Given the description of an element on the screen output the (x, y) to click on. 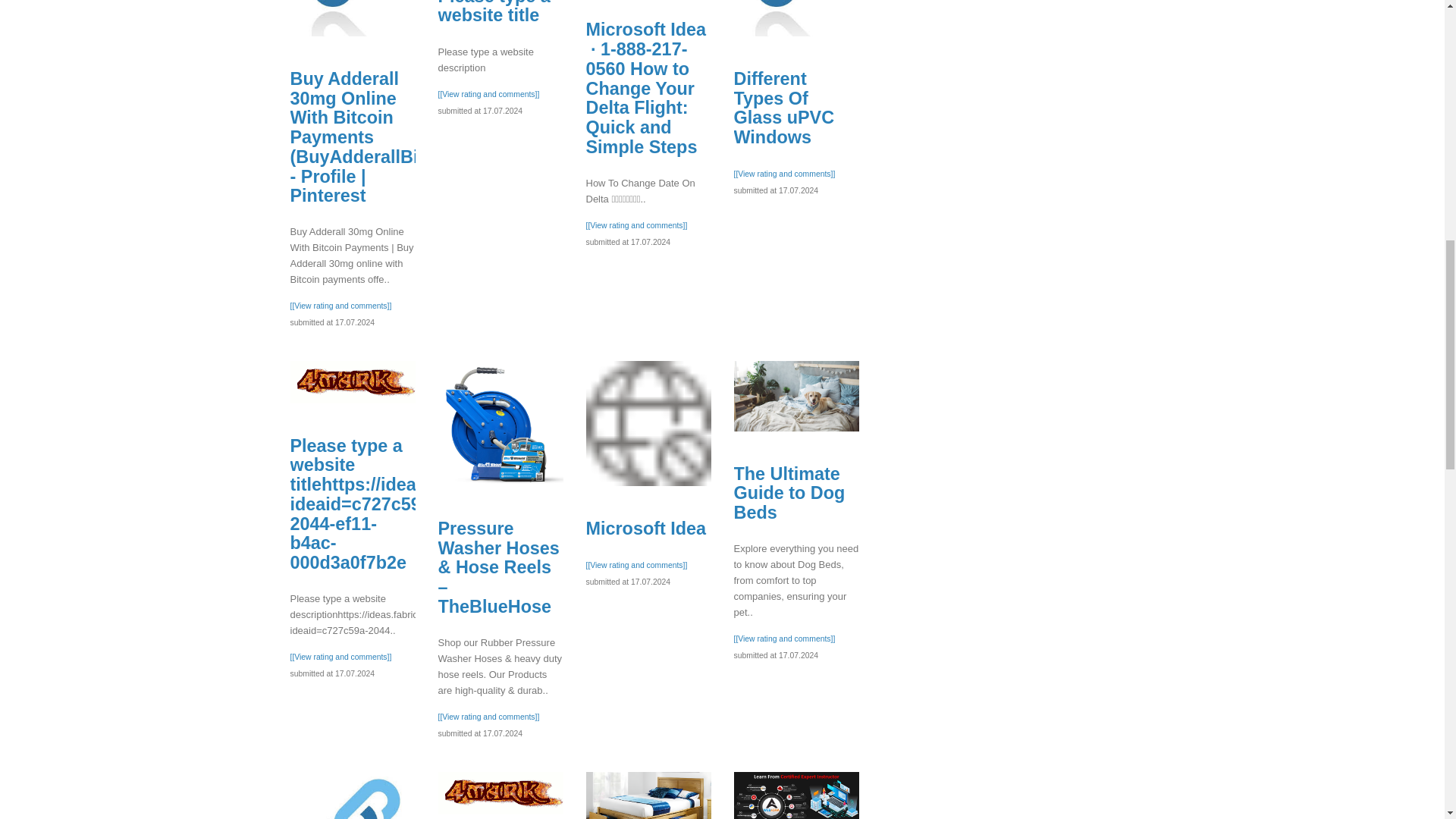
Different Types Of Glass uPVC Windows (783, 107)
The Ultimate Guide to Dog Beds (789, 493)
Different Types Of Glass uPVC Windows (796, 18)
Storage Bed: The Ultimate Guide (647, 423)
The Ultimate Guide to Dog Beds (647, 795)
Microsoft Idea (796, 396)
Please type a website title (645, 528)
